Given the description of an element on the screen output the (x, y) to click on. 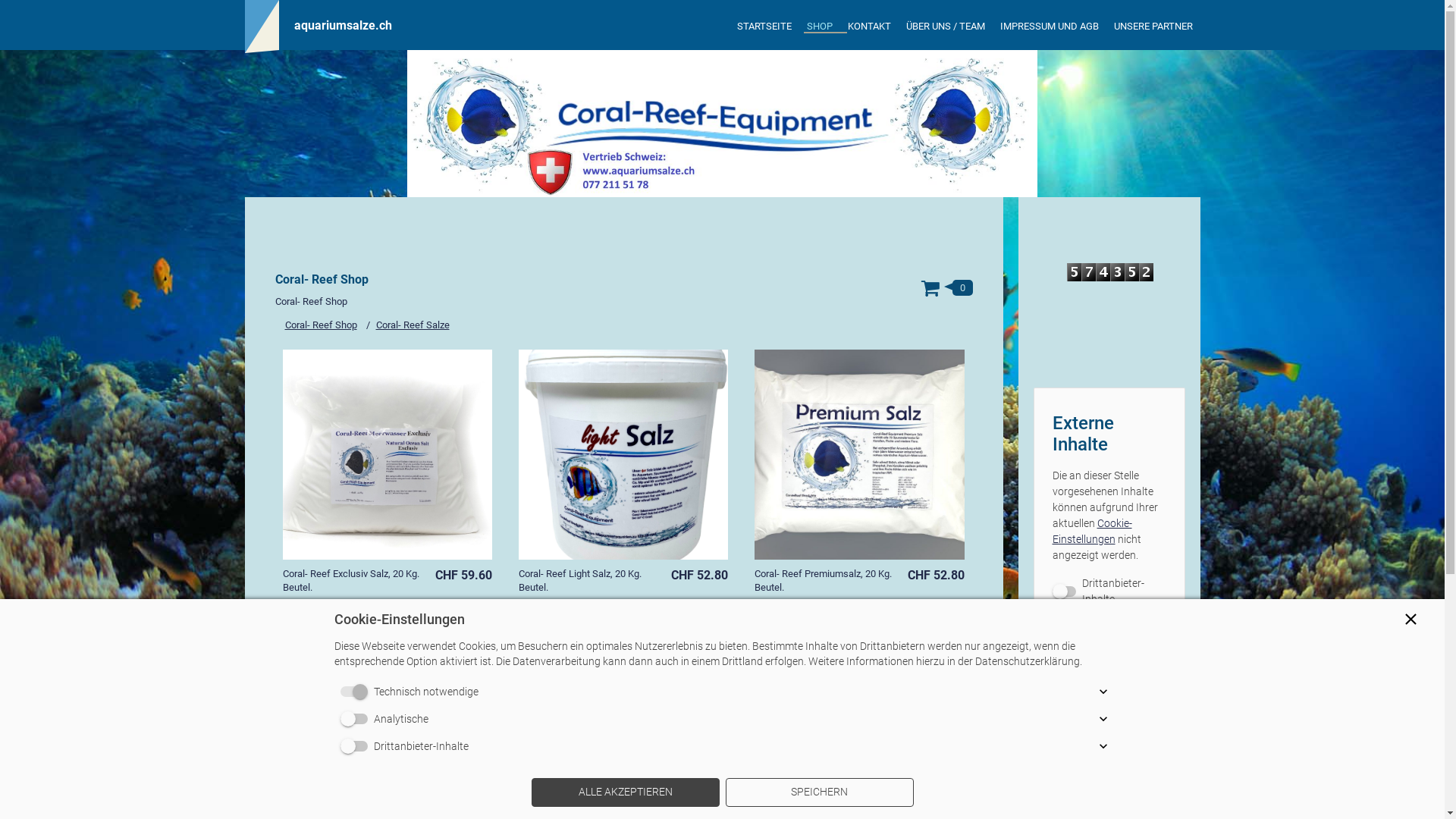
0 Element type: text (946, 286)
Cookie-Einstellungen Element type: text (1092, 531)
KONTAKT Element type: text (869, 26)
STARTSEITE Element type: text (764, 26)
IMPRESSUM UND AGB Element type: text (1048, 26)
SHOP Element type: text (819, 26)
Coral- Reef Salze Element type: text (412, 324)
SPEICHERN Element type: text (818, 792)
  Element type: text (721, 123)
UNSERE PARTNER Element type: text (1152, 26)
Coral- Reef Shop Element type: text (321, 324)
ALLE AKZEPTIEREN Element type: text (624, 792)
